Given the description of an element on the screen output the (x, y) to click on. 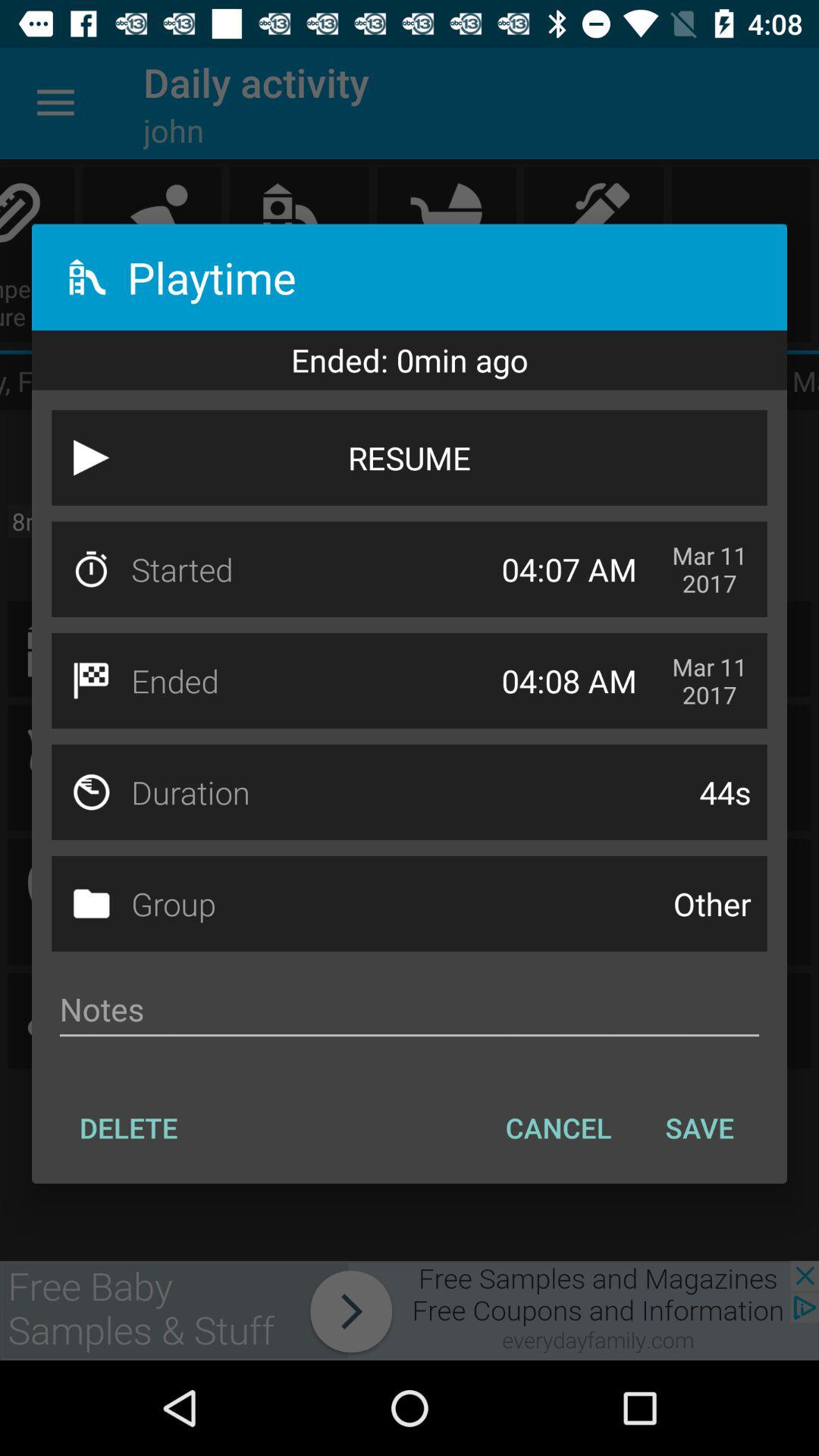
turn off icon to the left of save item (558, 1127)
